Given the description of an element on the screen output the (x, y) to click on. 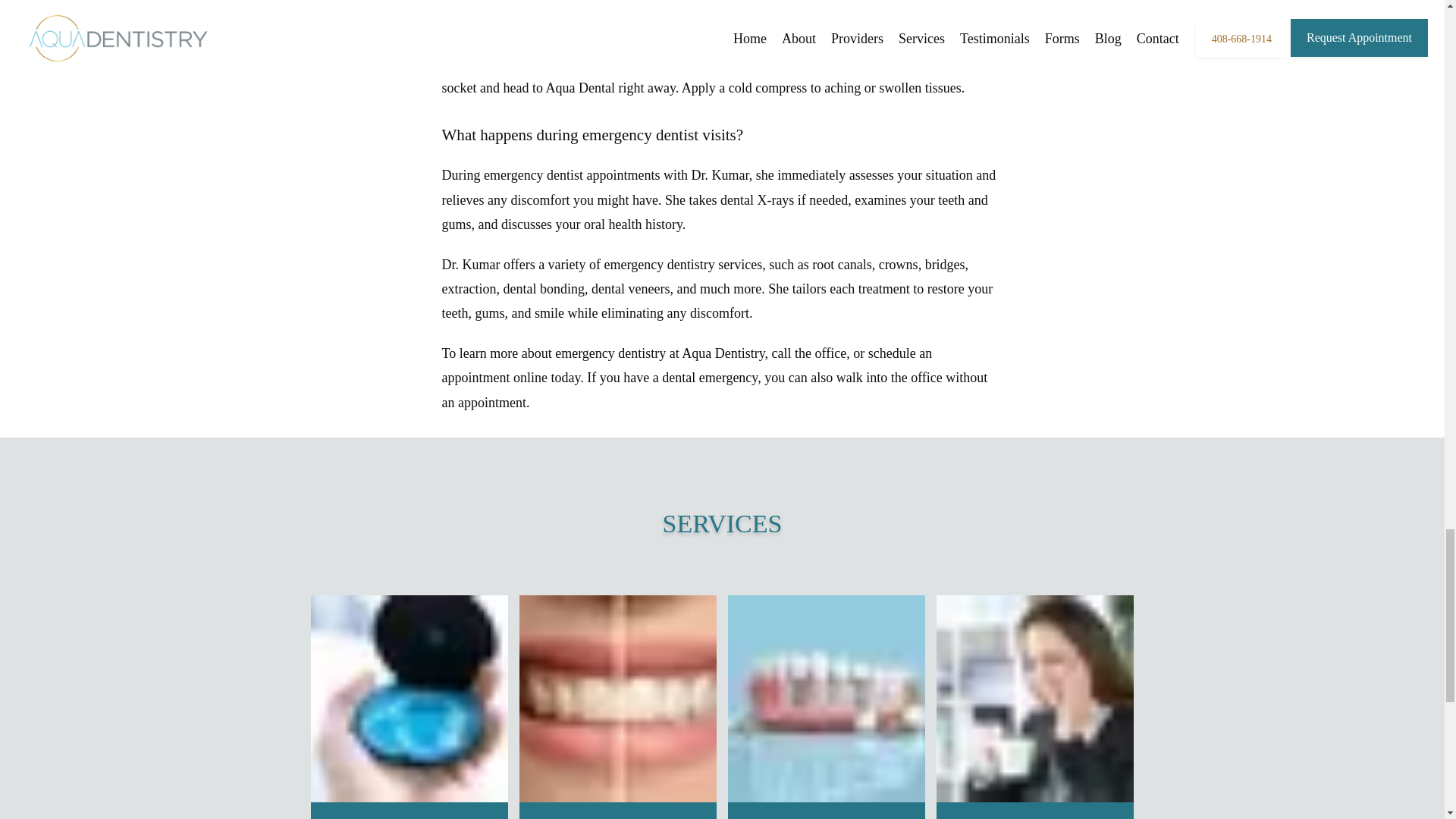
Dental Implants (826, 818)
TMJ (1035, 818)
Teeth Whitening (617, 818)
Invisalign (408, 818)
